Given the description of an element on the screen output the (x, y) to click on. 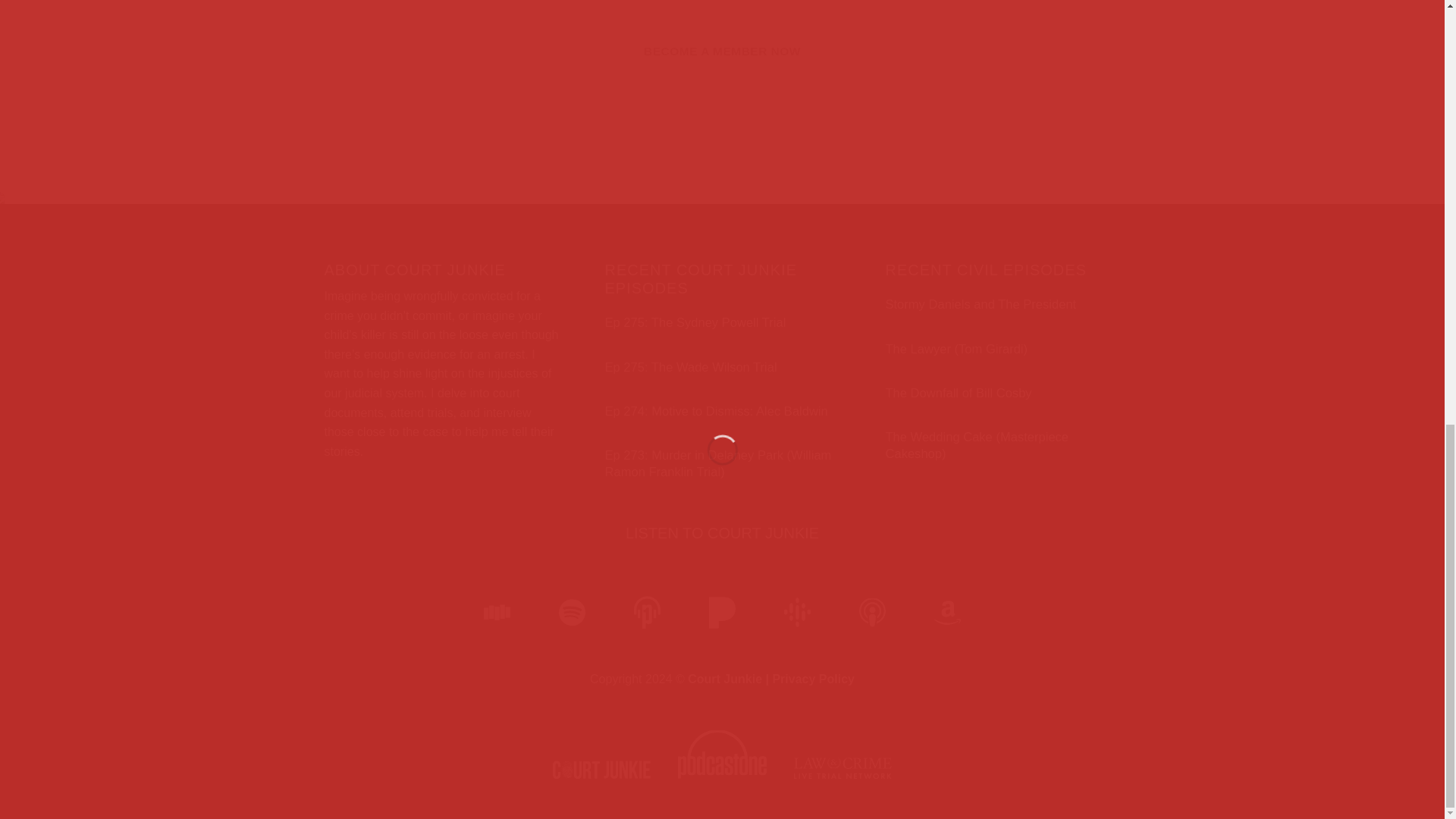
Ep 275: The Sydney Powell Trial (695, 322)
Ep 275: The Wade Wilson Trial (691, 367)
BECOME A MEMBER NOW (721, 51)
Stitcher (497, 613)
Stormy Daniels and The President (980, 304)
Ep 274: Motive to Dismiss: Alec Baldwin (716, 411)
